Given the description of an element on the screen output the (x, y) to click on. 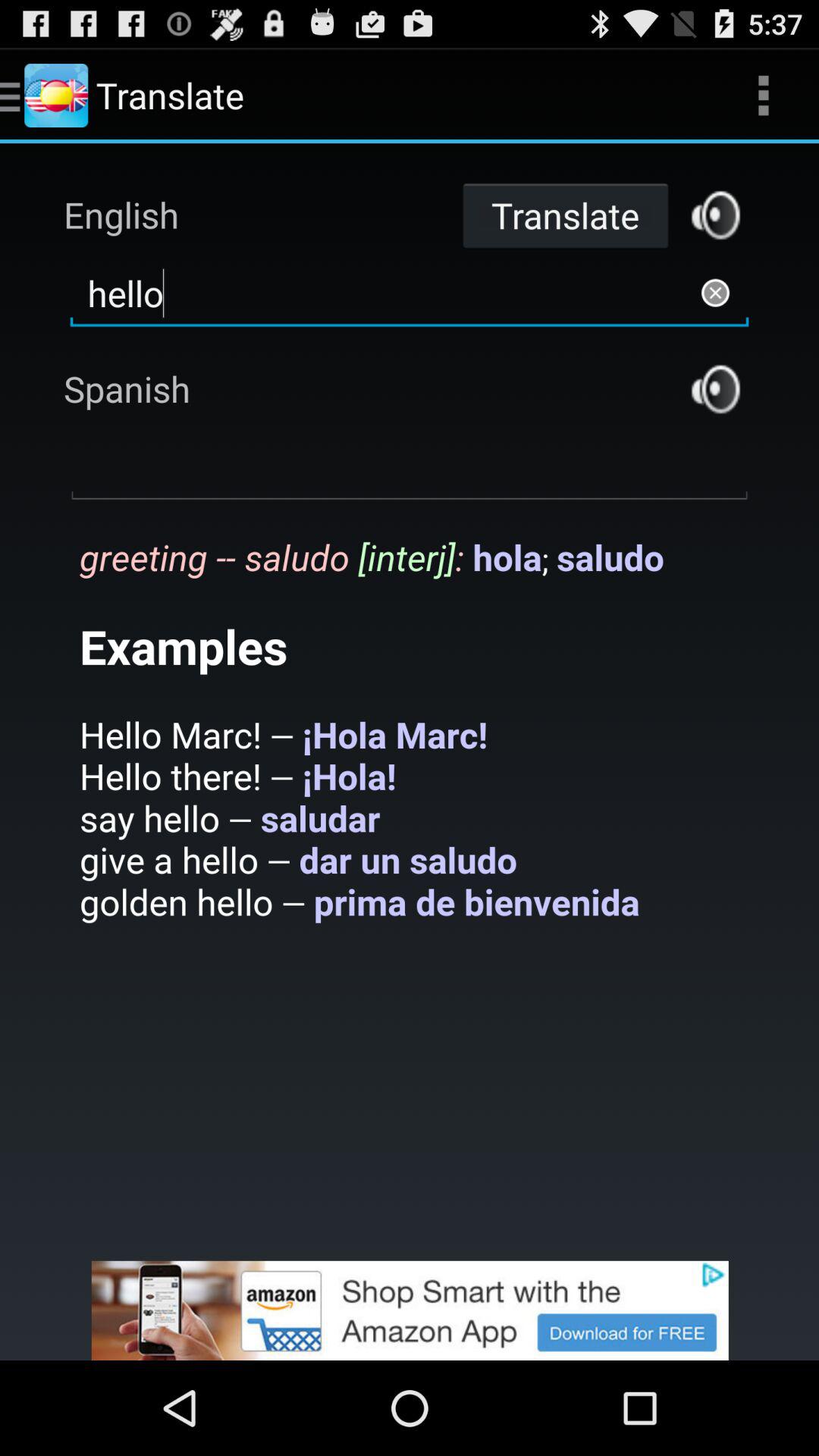
hear (715, 388)
